Given the description of an element on the screen output the (x, y) to click on. 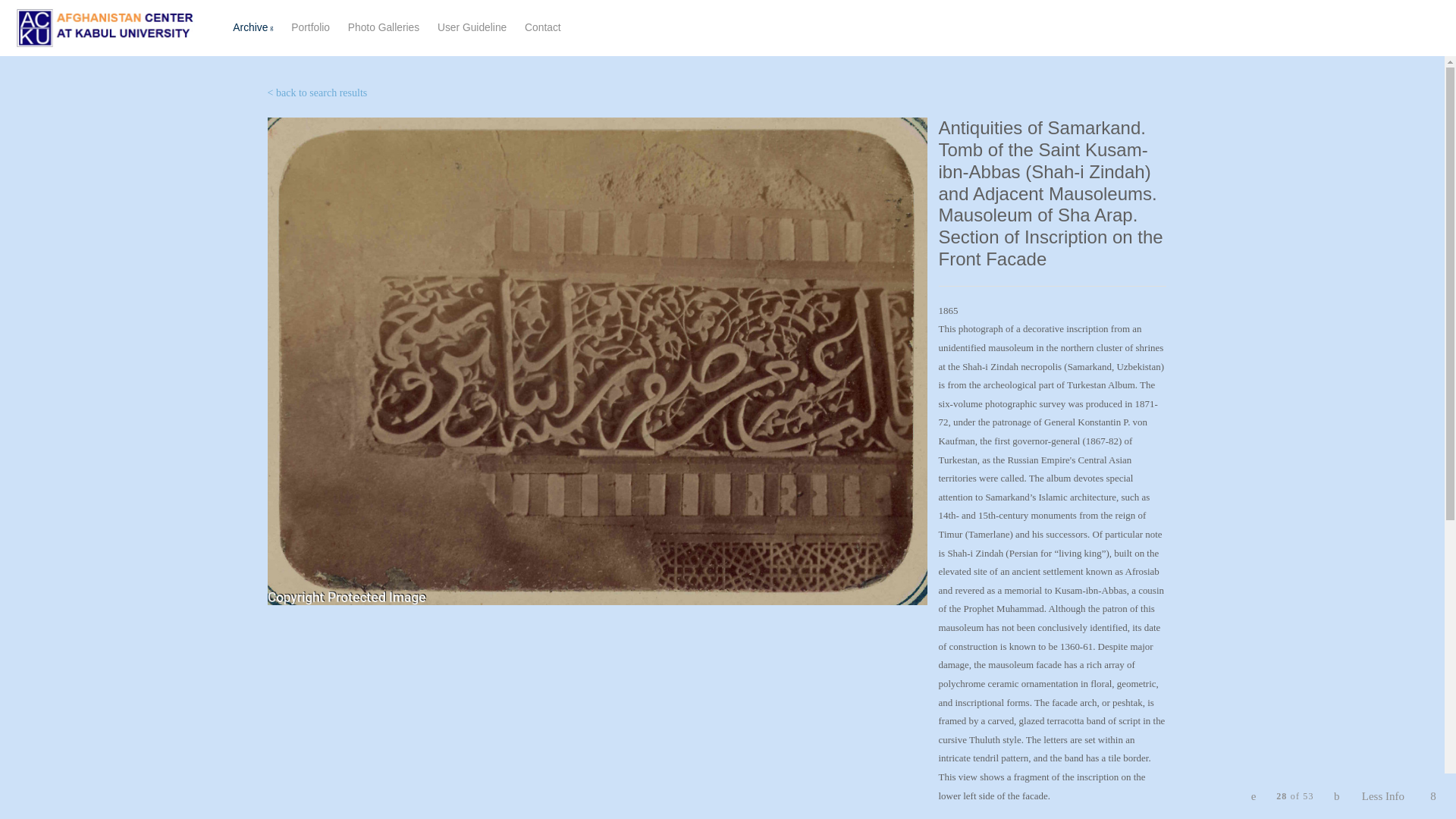
back to search results (403, 28)
Afghanistan Centre at Kabul University (316, 92)
Photo Galleries (105, 27)
Contact (383, 27)
User Guideline (542, 27)
Afghanistan Centre at Kabul University (472, 27)
Portfolio (105, 27)
